Given the description of an element on the screen output the (x, y) to click on. 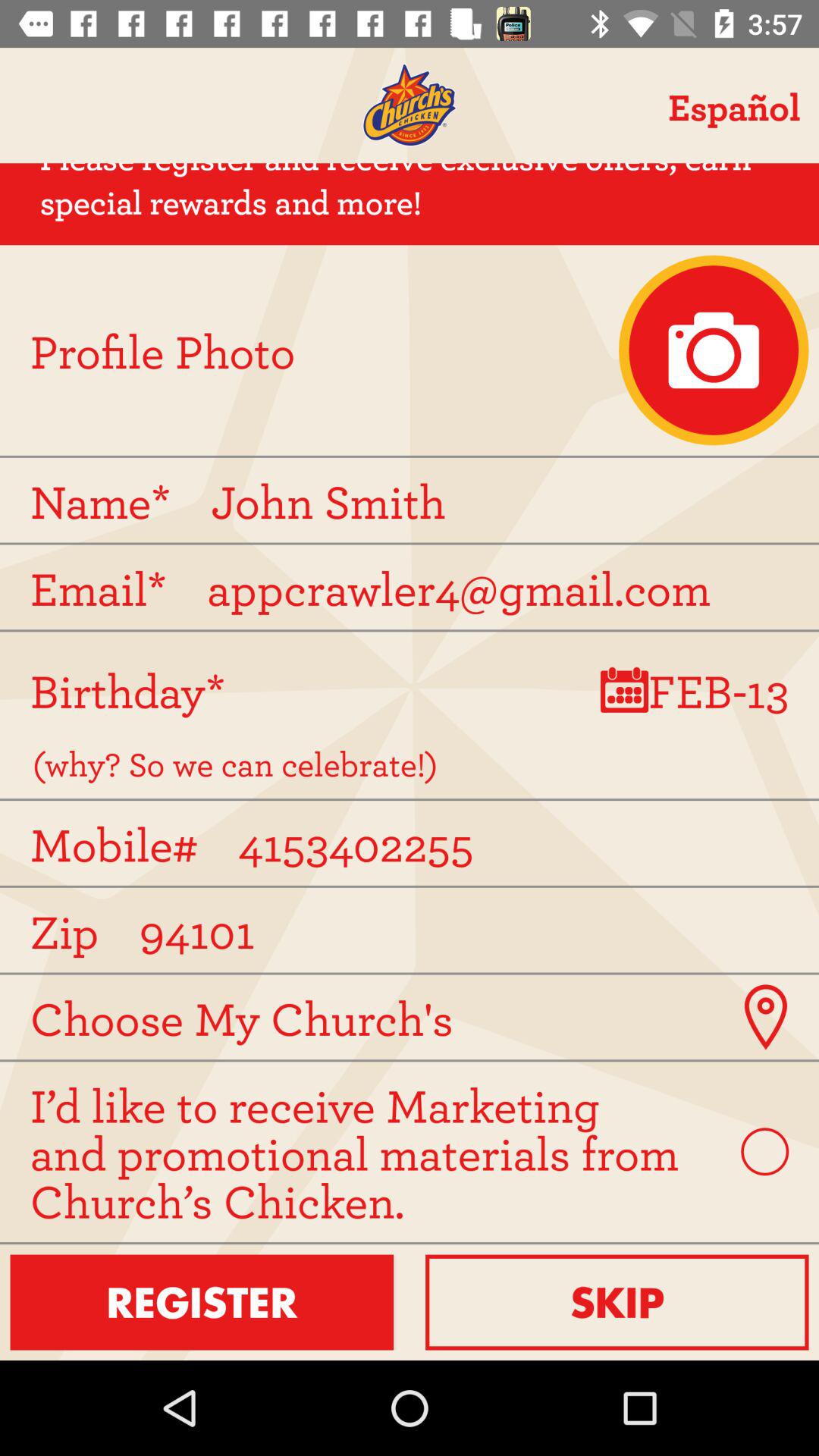
home screen for church 's chicken (409, 104)
